Given the description of an element on the screen output the (x, y) to click on. 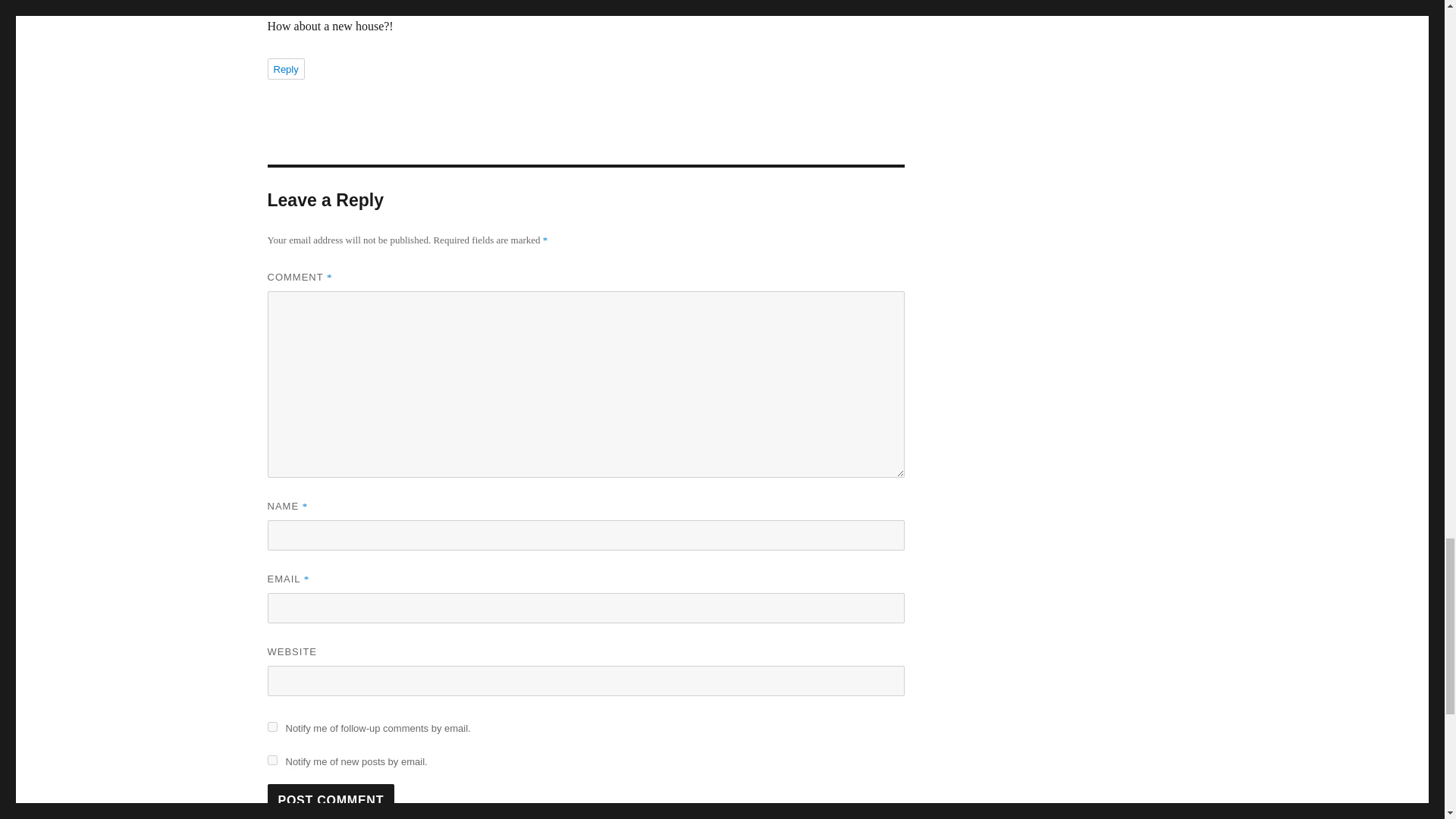
subscribe (271, 759)
Post Comment (330, 799)
subscribe (271, 726)
Post Comment (330, 799)
Reply (285, 68)
